Given the description of an element on the screen output the (x, y) to click on. 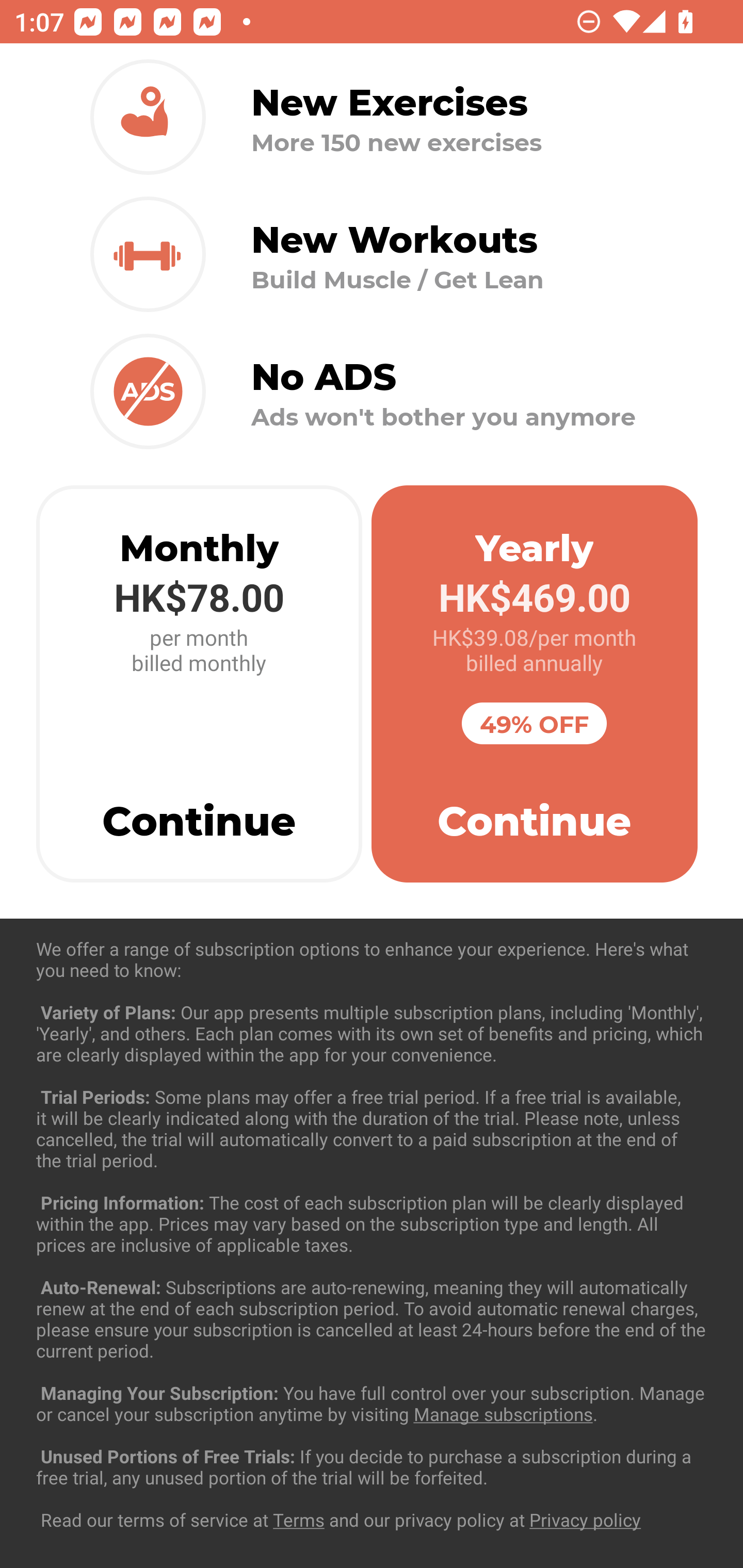
Monthly HK$78.00 per month
billed monthly Continue (199, 684)
Exercise Chest 37 exercises (371, 1033)
Exercise Forearms 4 exercises (371, 1232)
Exercise Legs 36 exercises (371, 1430)
